Given the description of an element on the screen output the (x, y) to click on. 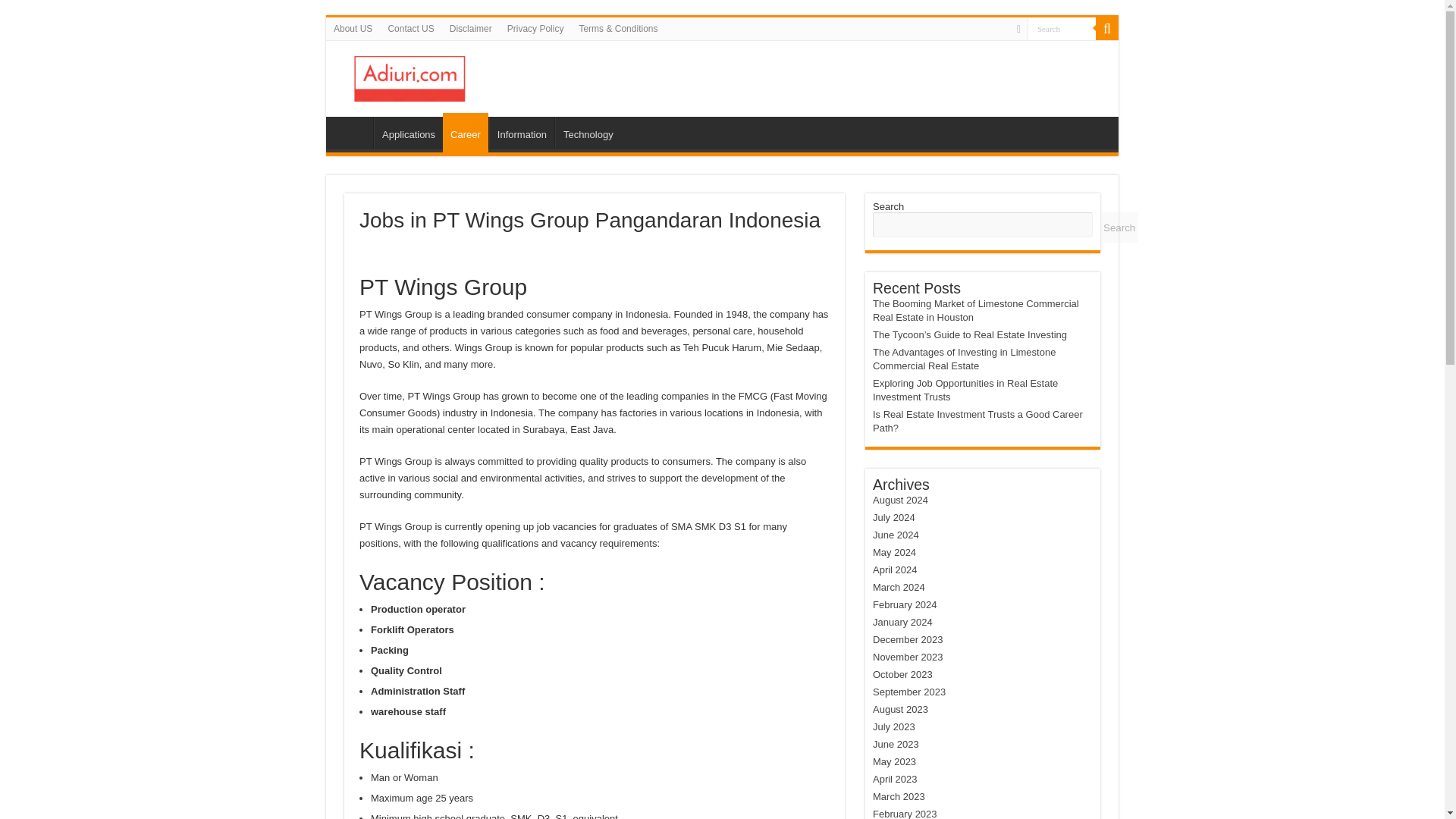
Adiuri (352, 132)
December 2023 (907, 639)
Exploring Job Opportunities in Real Estate Investment Trusts (965, 389)
Information (521, 132)
Privacy Policy (535, 28)
Applications (408, 132)
Search (1107, 28)
June 2024 (895, 534)
Search (1061, 28)
